Given the description of an element on the screen output the (x, y) to click on. 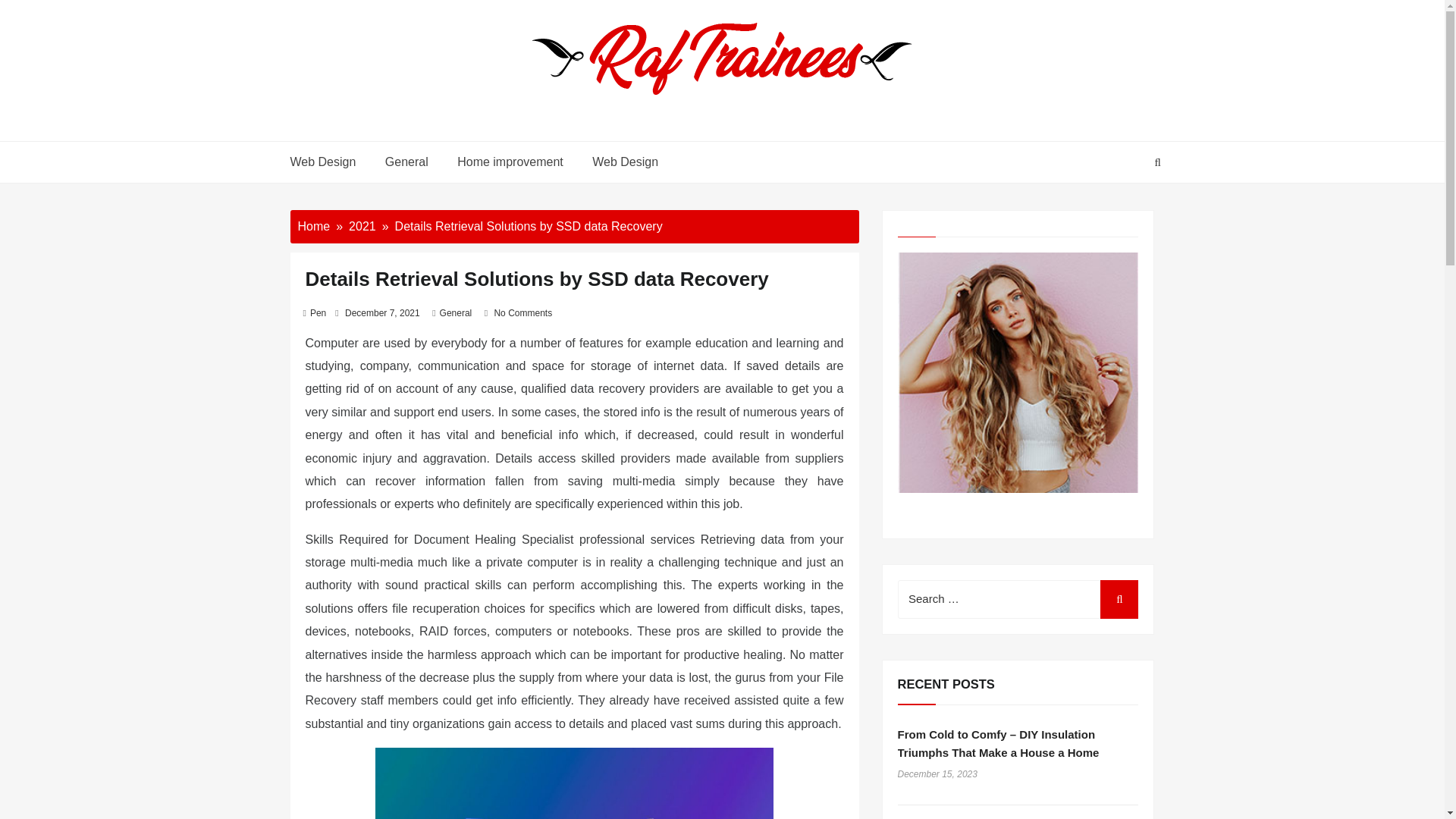
December 7, 2021 (382, 312)
Web Design (328, 161)
Web Design (622, 161)
Home (313, 226)
General (455, 312)
Home improvement (510, 161)
General (406, 161)
Pen (318, 312)
No Comments (522, 312)
2021 (362, 226)
